Given the description of an element on the screen output the (x, y) to click on. 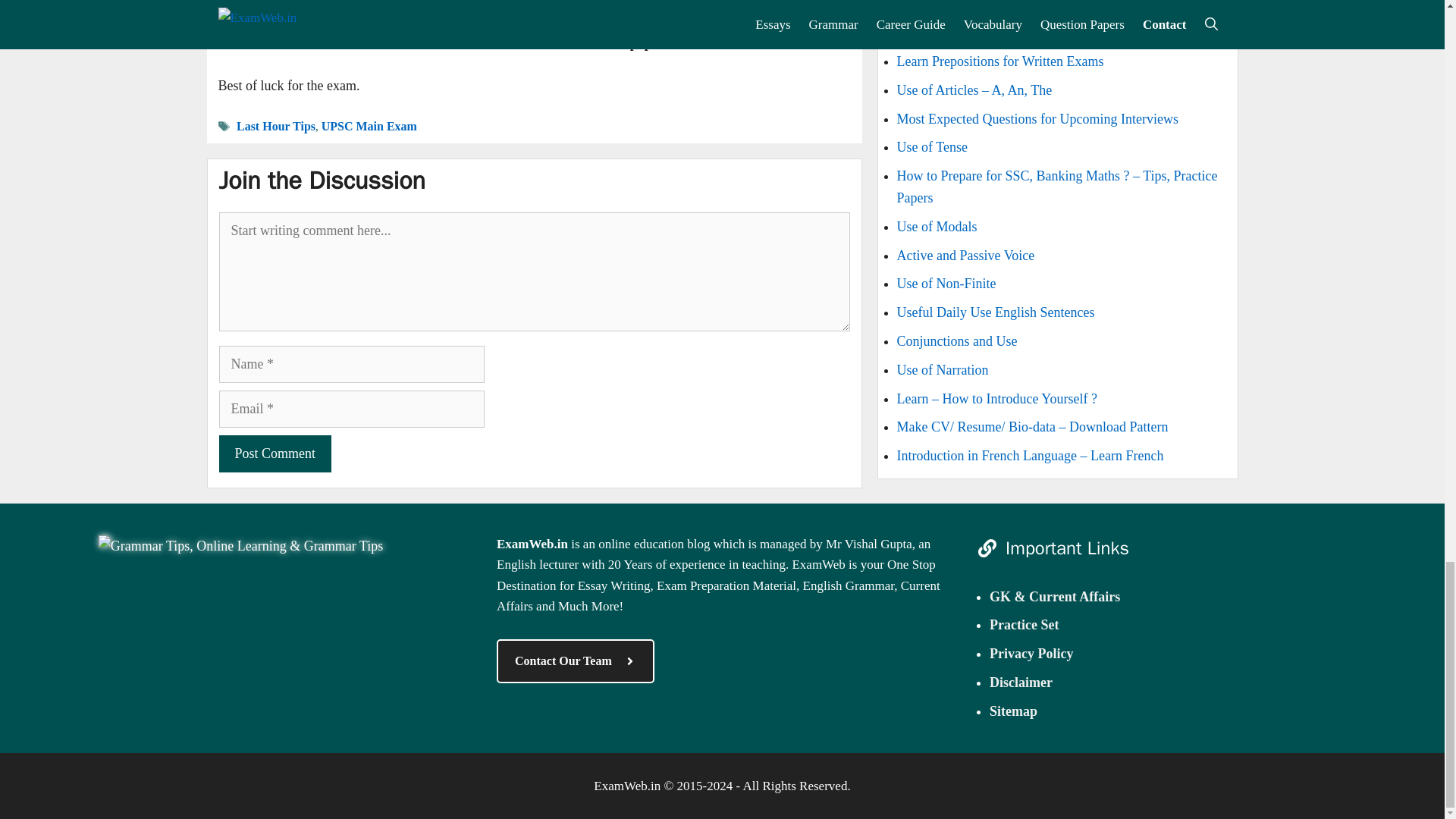
Last Hour Tips (275, 125)
UPSC Main Exam (368, 125)
Post Comment (274, 453)
Post Comment (274, 453)
examweb.in (240, 546)
